Given the description of an element on the screen output the (x, y) to click on. 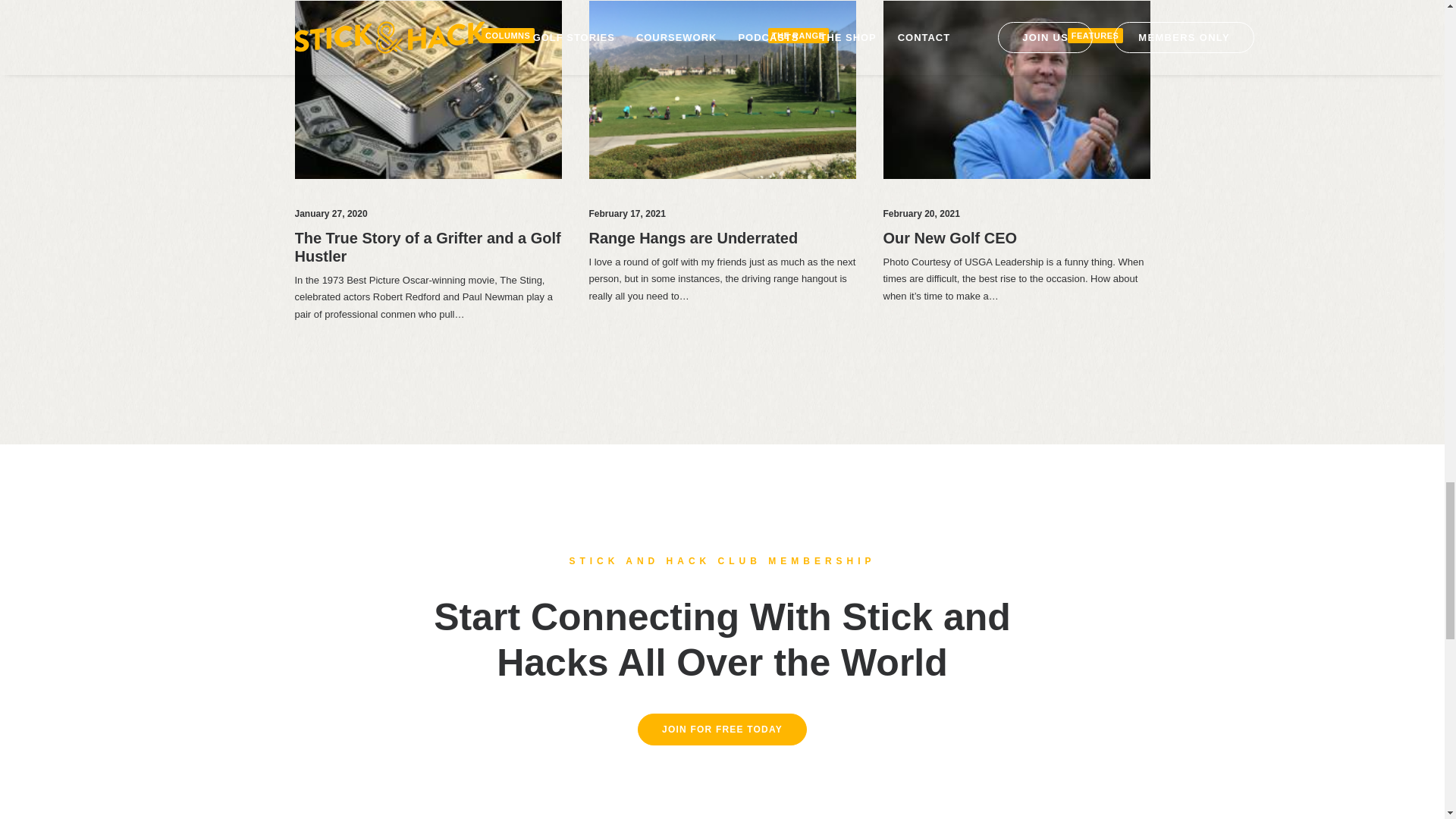
The True Story of a Grifter and a Golf Hustler (427, 247)
Range Hangs are Underrated (692, 238)
Our New Golf CEO (949, 238)
THE RANGE (798, 35)
COLUMNS (507, 35)
FEATURES (1094, 35)
JOIN FOR FREE TODAY (721, 729)
